Given the description of an element on the screen output the (x, y) to click on. 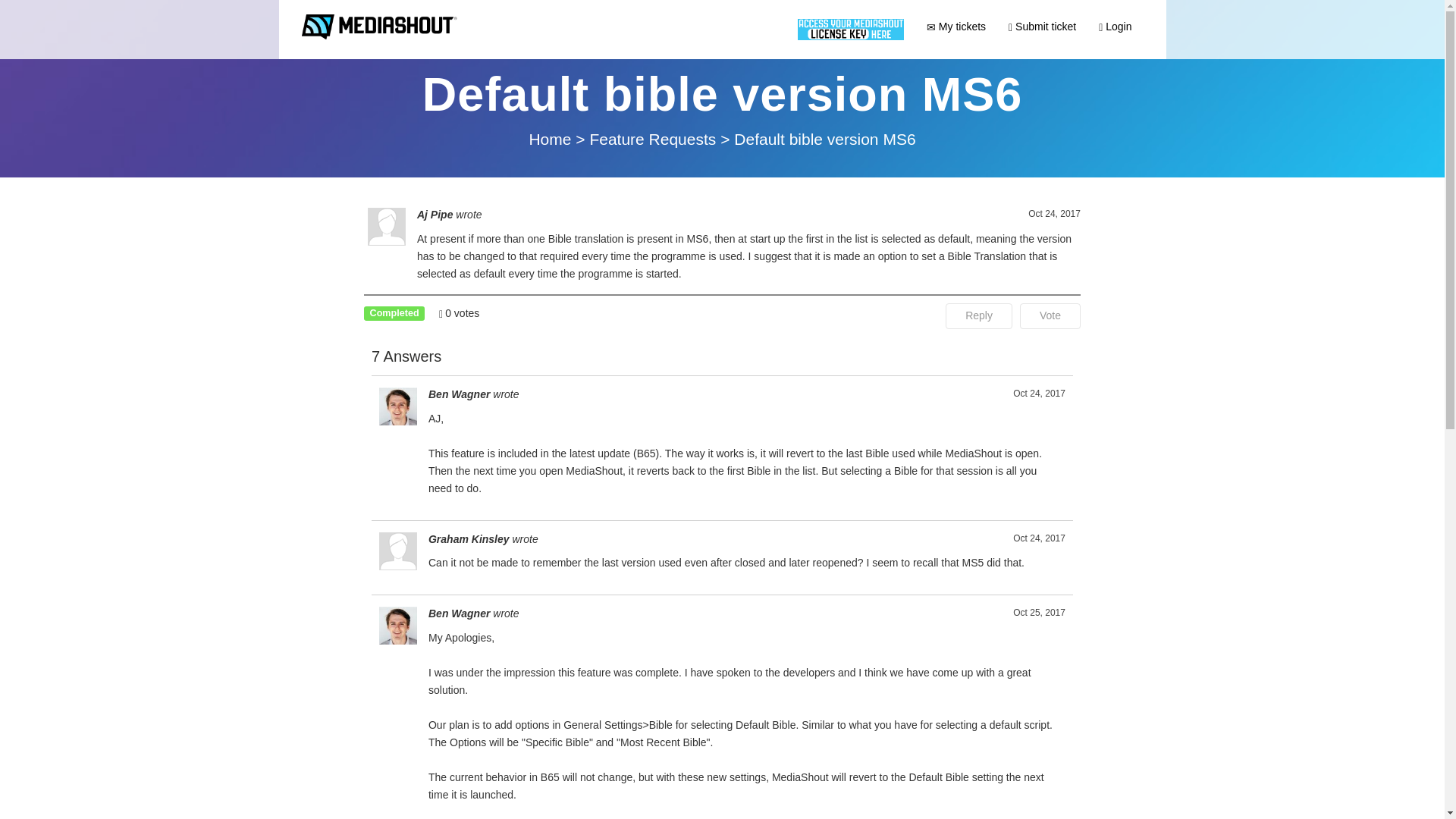
Reply (977, 316)
Home (551, 139)
Oct 24, 2017, 04:58 PM (1039, 538)
Avatar image (397, 625)
Login (1114, 26)
Oct 25, 2017, 08:27 AM (1039, 612)
Submit ticket (1042, 26)
Oct 24, 2017, 03:20 PM (1039, 393)
Avatar image (397, 406)
Feature Requests (654, 139)
Vote (1050, 316)
My tickets (956, 26)
